Given the description of an element on the screen output the (x, y) to click on. 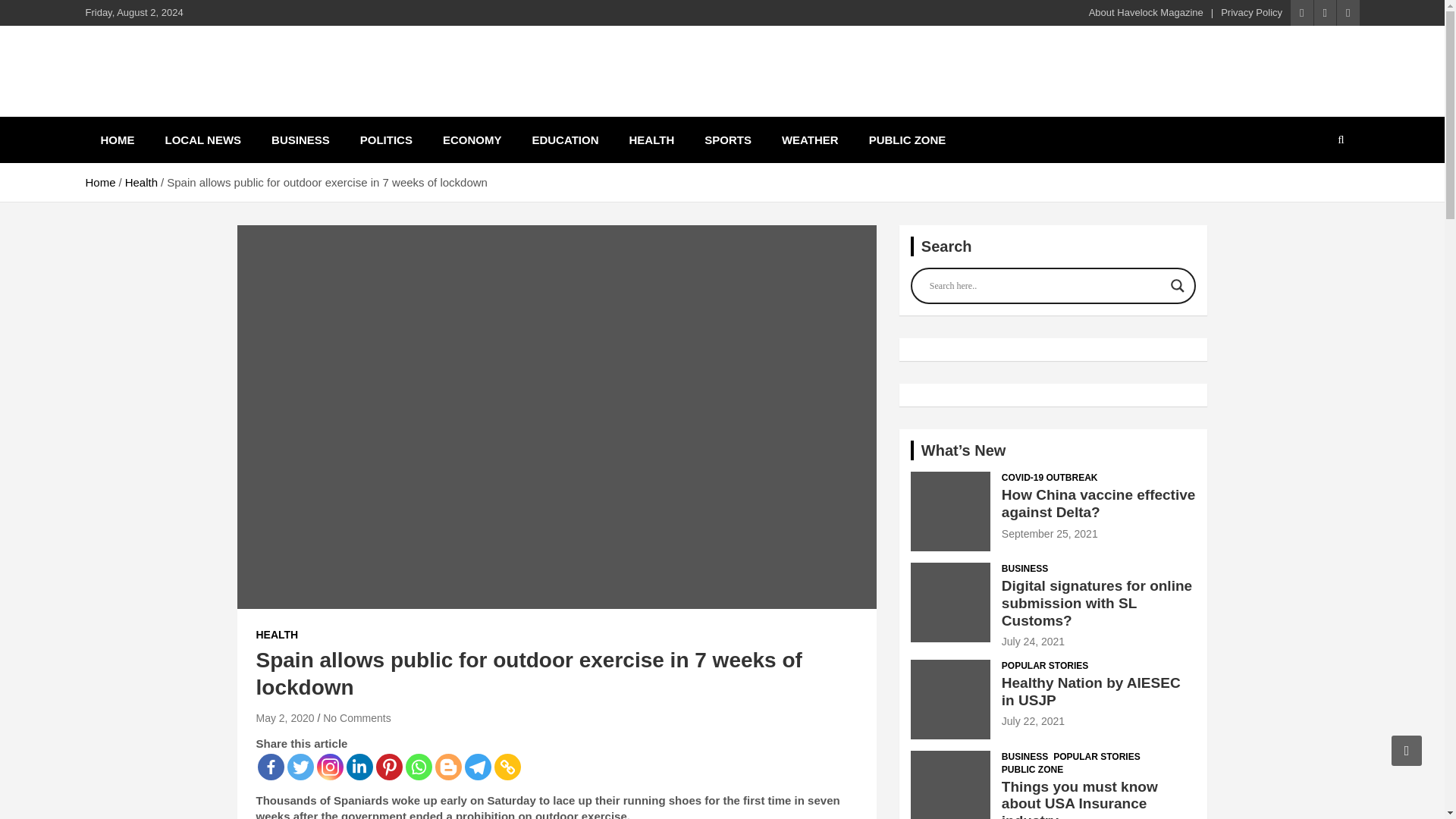
HOME (116, 139)
Pinterest (389, 766)
LOCAL NEWS (203, 139)
HEALTH (652, 139)
PUBLIC ZONE (906, 139)
May 2, 2020 (285, 717)
Instagram (330, 766)
SPORTS (727, 139)
EDUCATION (564, 139)
Home (99, 182)
Copy Link (508, 766)
Linkedin (359, 766)
POLITICS (386, 139)
About Havelock Magazine (1146, 12)
